Given the description of an element on the screen output the (x, y) to click on. 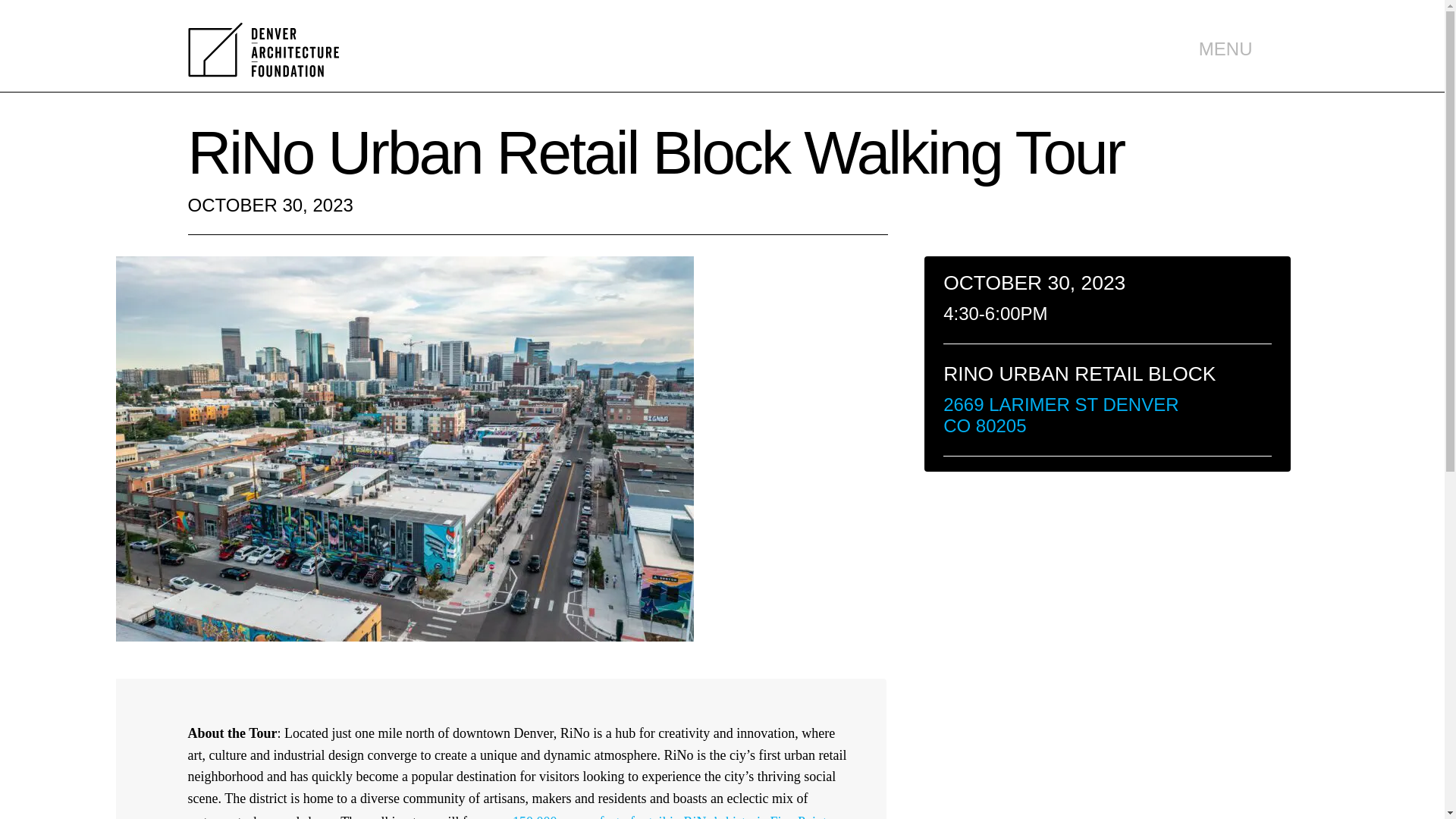
MENU (1225, 48)
